Given the description of an element on the screen output the (x, y) to click on. 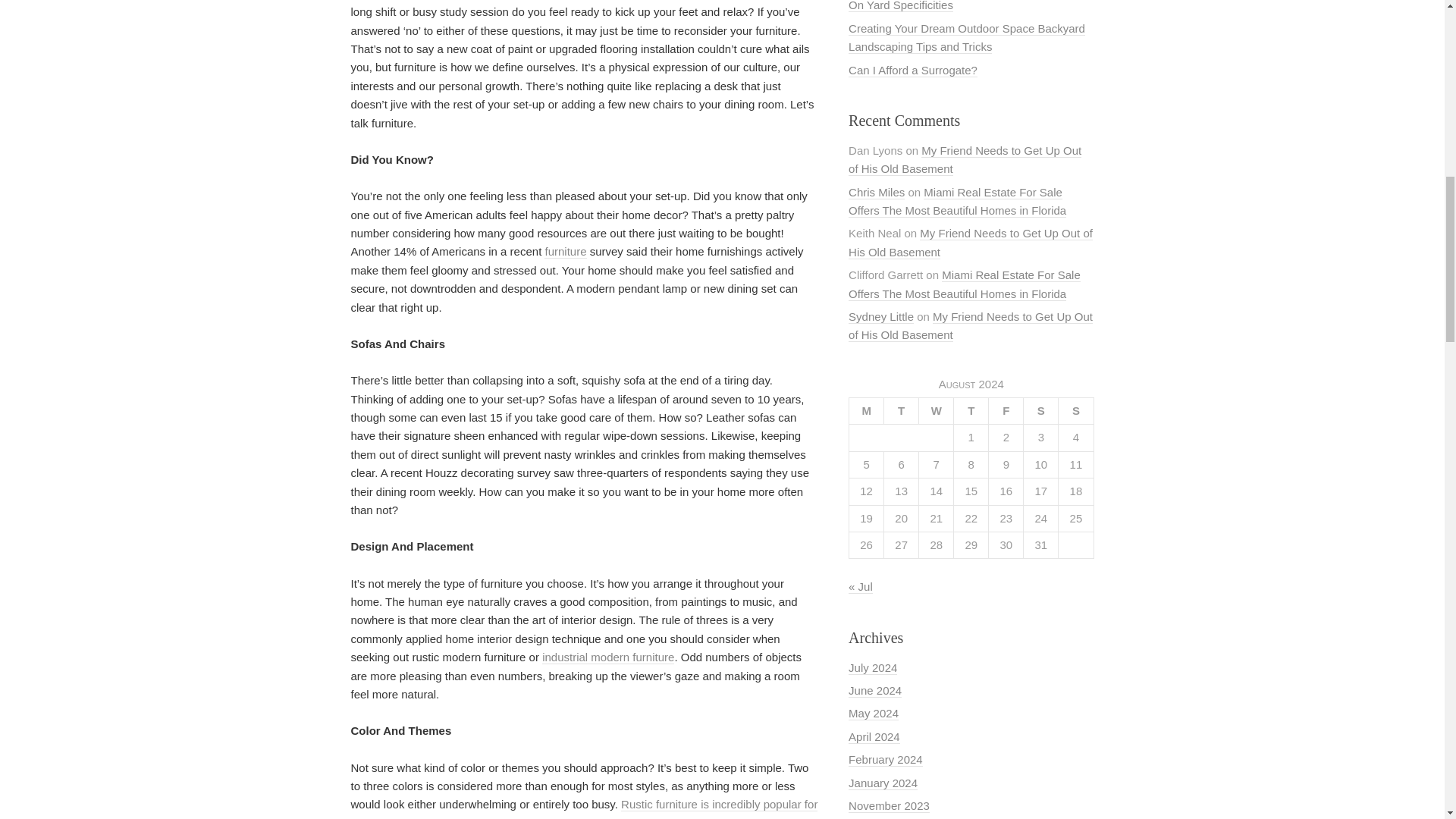
Can I Afford a Surrogate? (912, 69)
industrial modern furniture (607, 657)
My Friend Needs to Get Up Out of His Old Basement (970, 326)
Rustic furniture is incredibly popular for its timeless (583, 808)
My Friend Needs to Get Up Out of His Old Basement (964, 160)
Sydney Little (881, 316)
Neat stuff (607, 657)
